Given the description of an element on the screen output the (x, y) to click on. 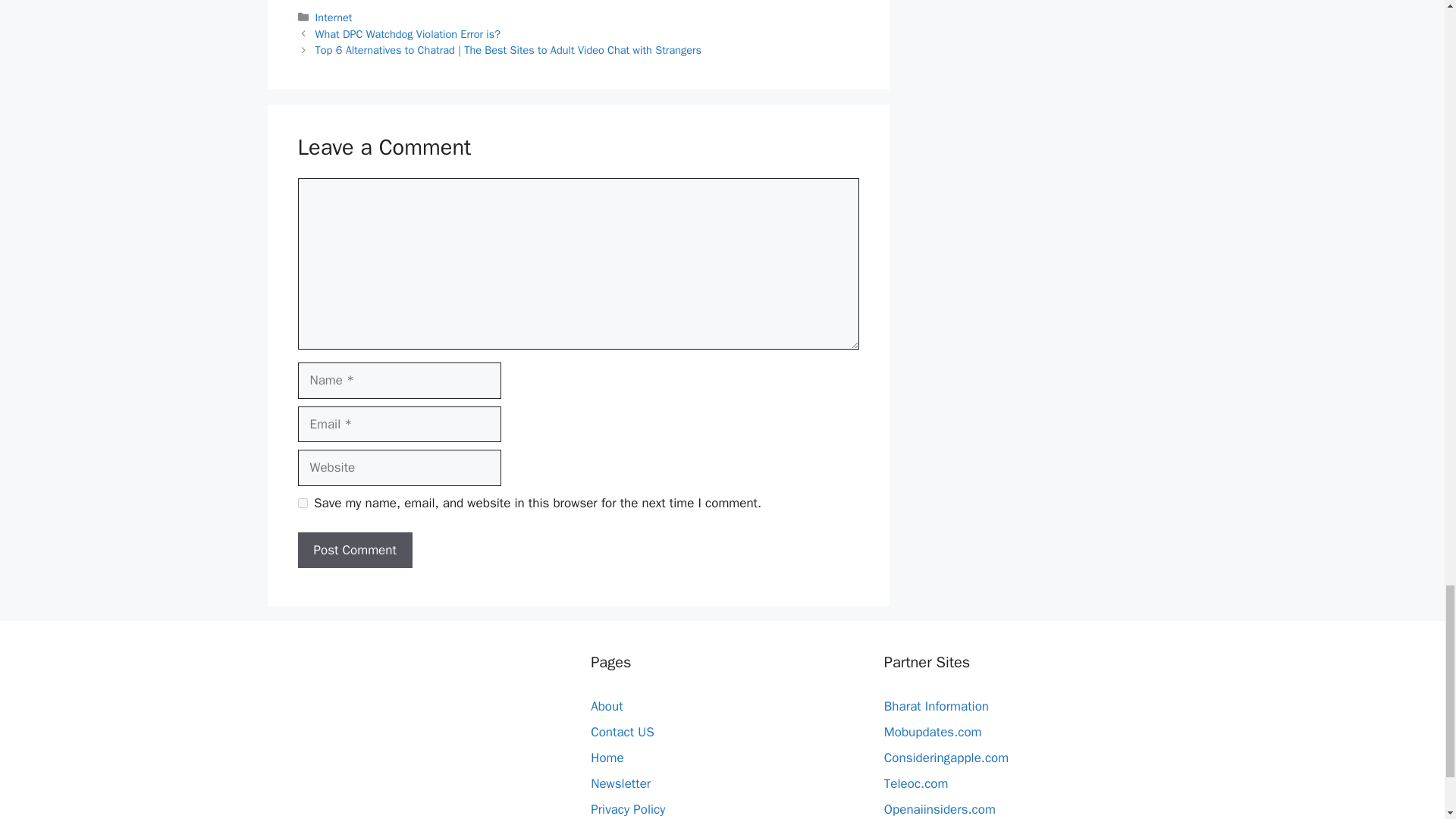
Post Comment (354, 550)
yes (302, 502)
Post Comment (354, 550)
Internet (333, 17)
What DPC Watchdog Violation Error is? (407, 33)
